Given the description of an element on the screen output the (x, y) to click on. 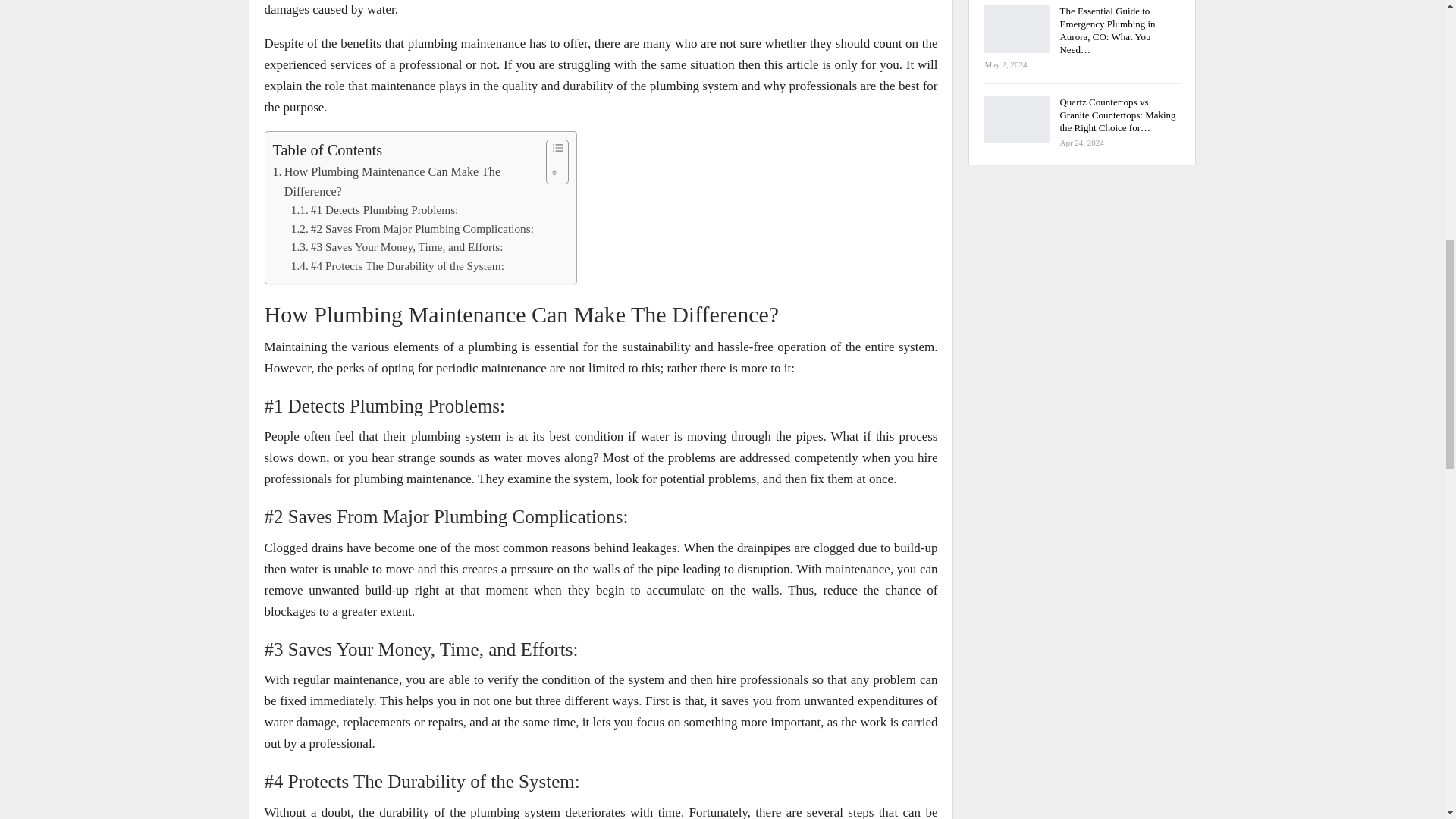
How Plumbing Maintenance Can Make The Difference? (405, 181)
How Plumbing Maintenance Can Make The Difference? (405, 181)
